Given the description of an element on the screen output the (x, y) to click on. 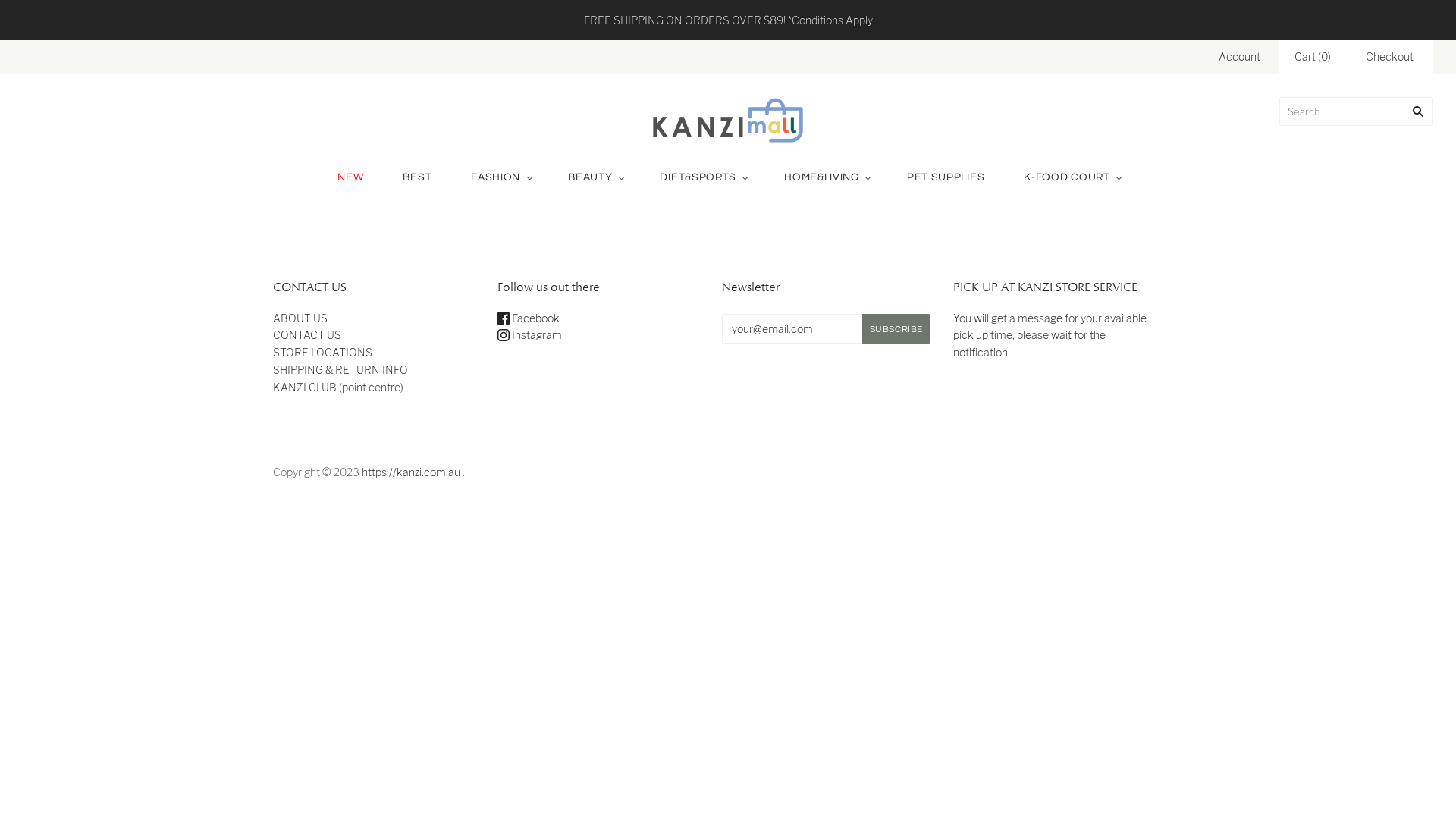
DIET&SPORTS Element type: text (702, 177)
Instagram Element type: text (529, 334)
Checkout Element type: text (1389, 56)
Subscribe Element type: text (896, 328)
https://kanzi.com.au Element type: text (410, 471)
BEST Element type: text (416, 177)
CONTACT US Element type: text (307, 334)
ABOUT US Element type: text (300, 316)
Account Element type: text (1239, 56)
Cart (0) Element type: text (1312, 56)
Facebook Element type: text (528, 316)
FASHION Element type: text (499, 177)
PET SUPPLIES Element type: text (945, 177)
NEW Element type: text (349, 177)
KANZI CLUB (point centre) Element type: text (338, 386)
BEAUTY Element type: text (594, 177)
K-FOOD COURT Element type: text (1070, 177)
HOME&LIVING Element type: text (825, 177)
SHIPPING & RETURN INFO Element type: text (340, 369)
STORE LOCATIONS Element type: text (322, 351)
